Given the description of an element on the screen output the (x, y) to click on. 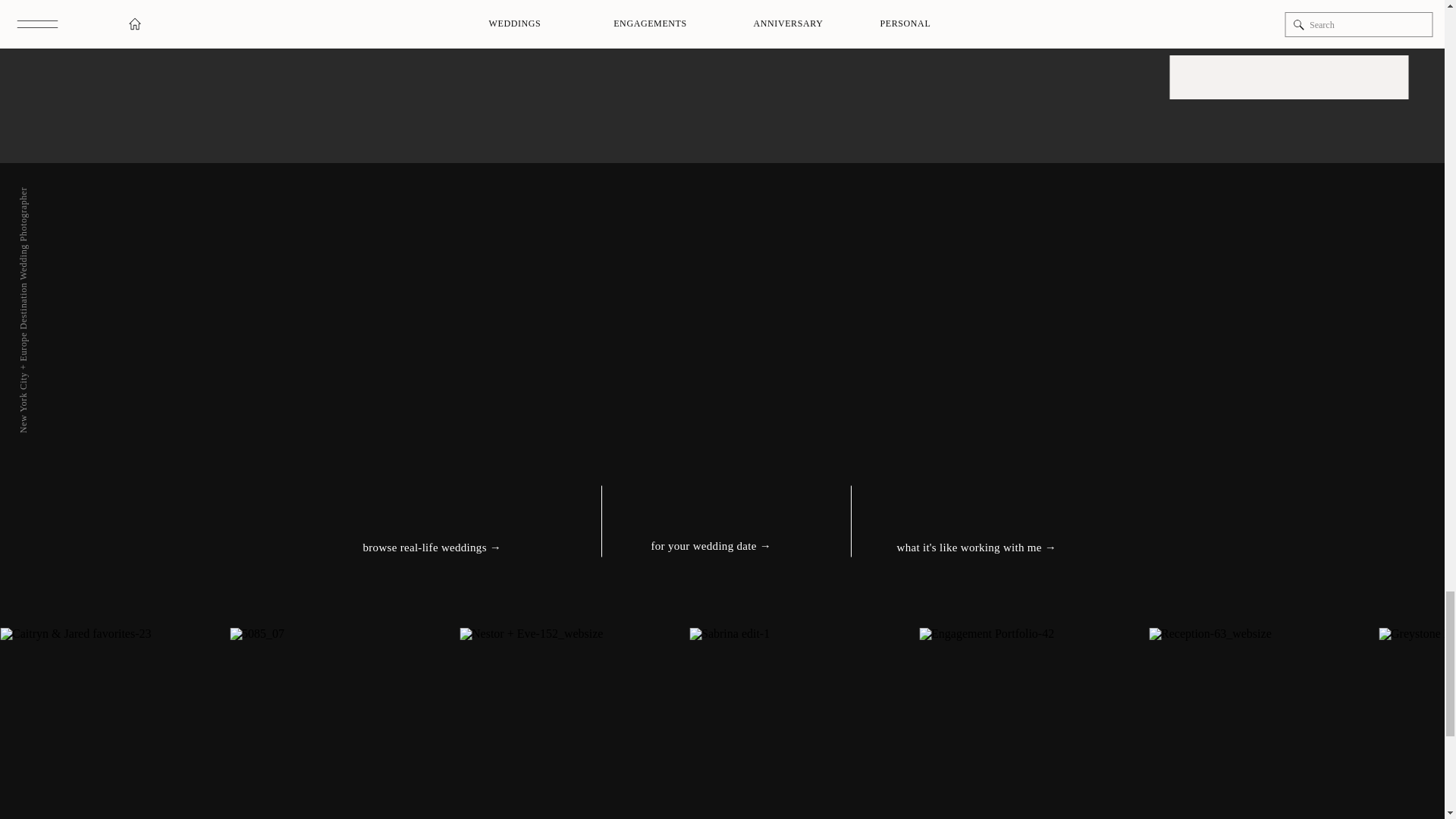
Sabrina edit-1 (803, 723)
Engagement Portfolio-42 (1033, 723)
